Given the description of an element on the screen output the (x, y) to click on. 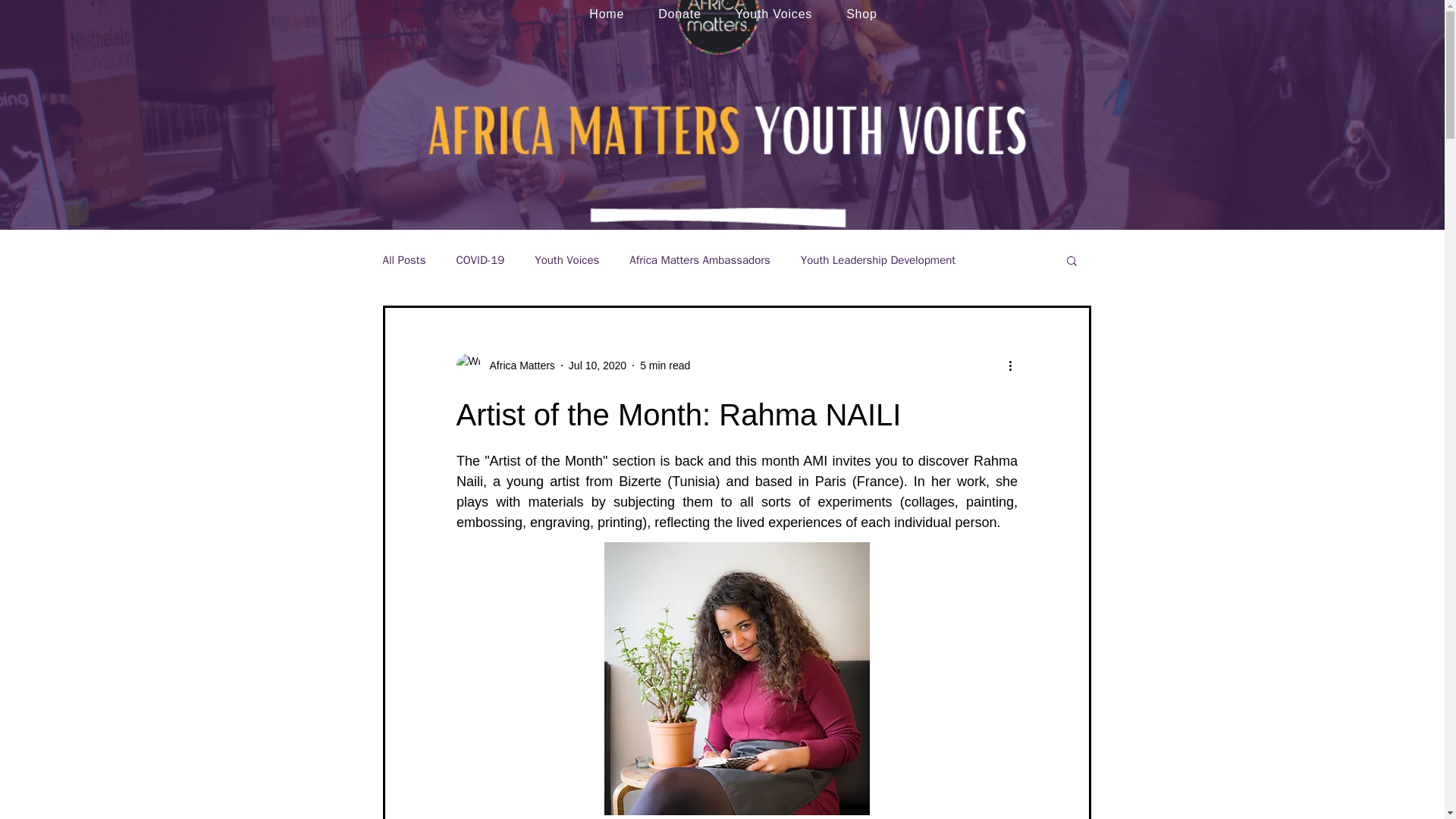
Donate (678, 14)
Shop (861, 14)
Jul 10, 2020 (597, 365)
Africa Matters Ambassadors (699, 260)
5 min read (665, 365)
Africa Matters (505, 364)
COVID-19 (479, 260)
Youth Voices (566, 260)
All Posts (403, 260)
Home (605, 14)
Youth Voices (774, 14)
Africa Matters (517, 365)
Youth Leadership Development (877, 260)
